Given the description of an element on the screen output the (x, y) to click on. 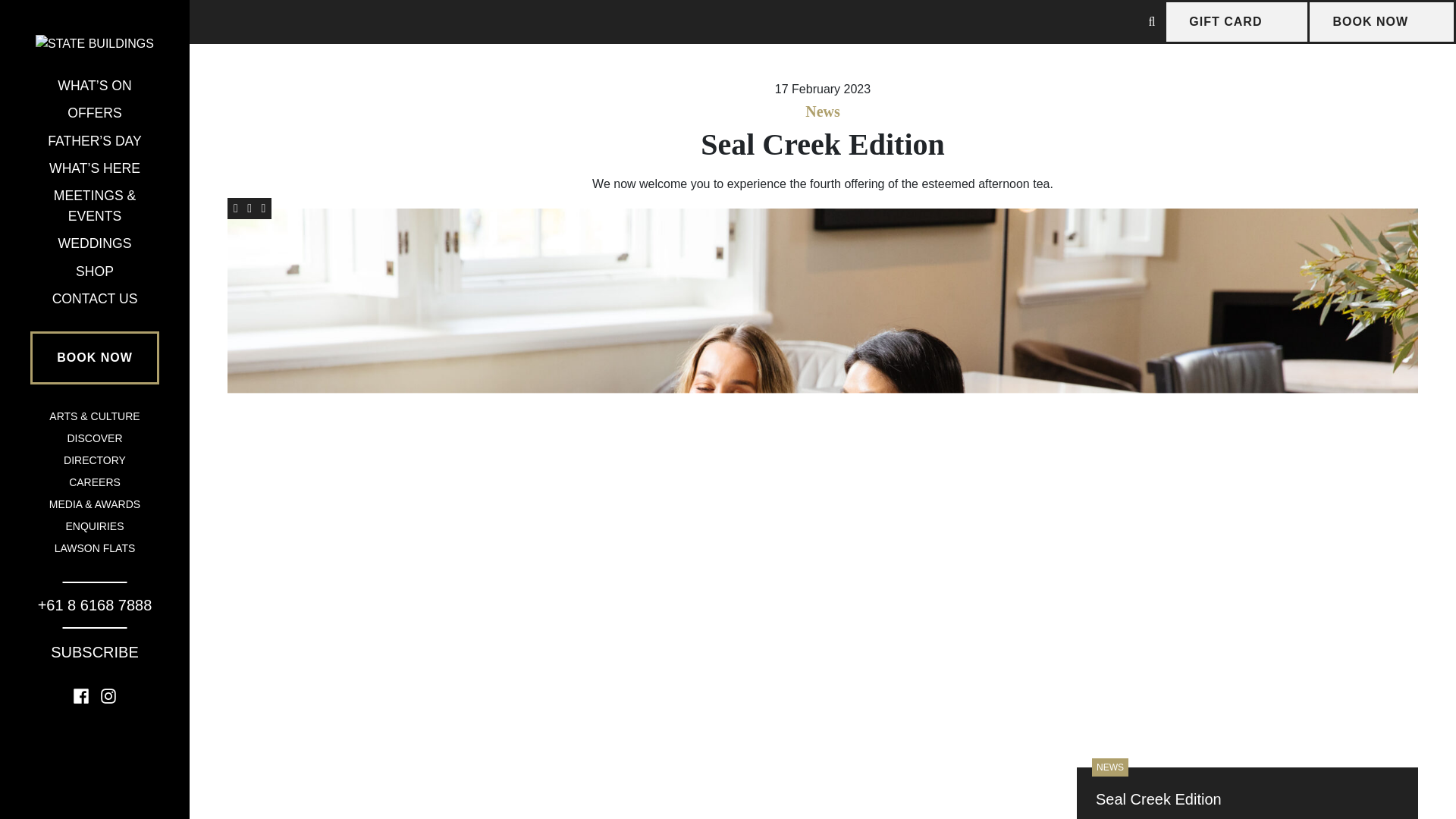
BOOK NOW (1380, 21)
BOOK NOW (94, 357)
SUBSCRIBE (94, 651)
GIFT CARD (1236, 21)
DISCOVER (94, 438)
CAREERS (94, 481)
LAWSON FLATS (95, 548)
INSTAGRAM (108, 694)
WEDDINGS (95, 242)
ENQUIRIES (94, 526)
